Given the description of an element on the screen output the (x, y) to click on. 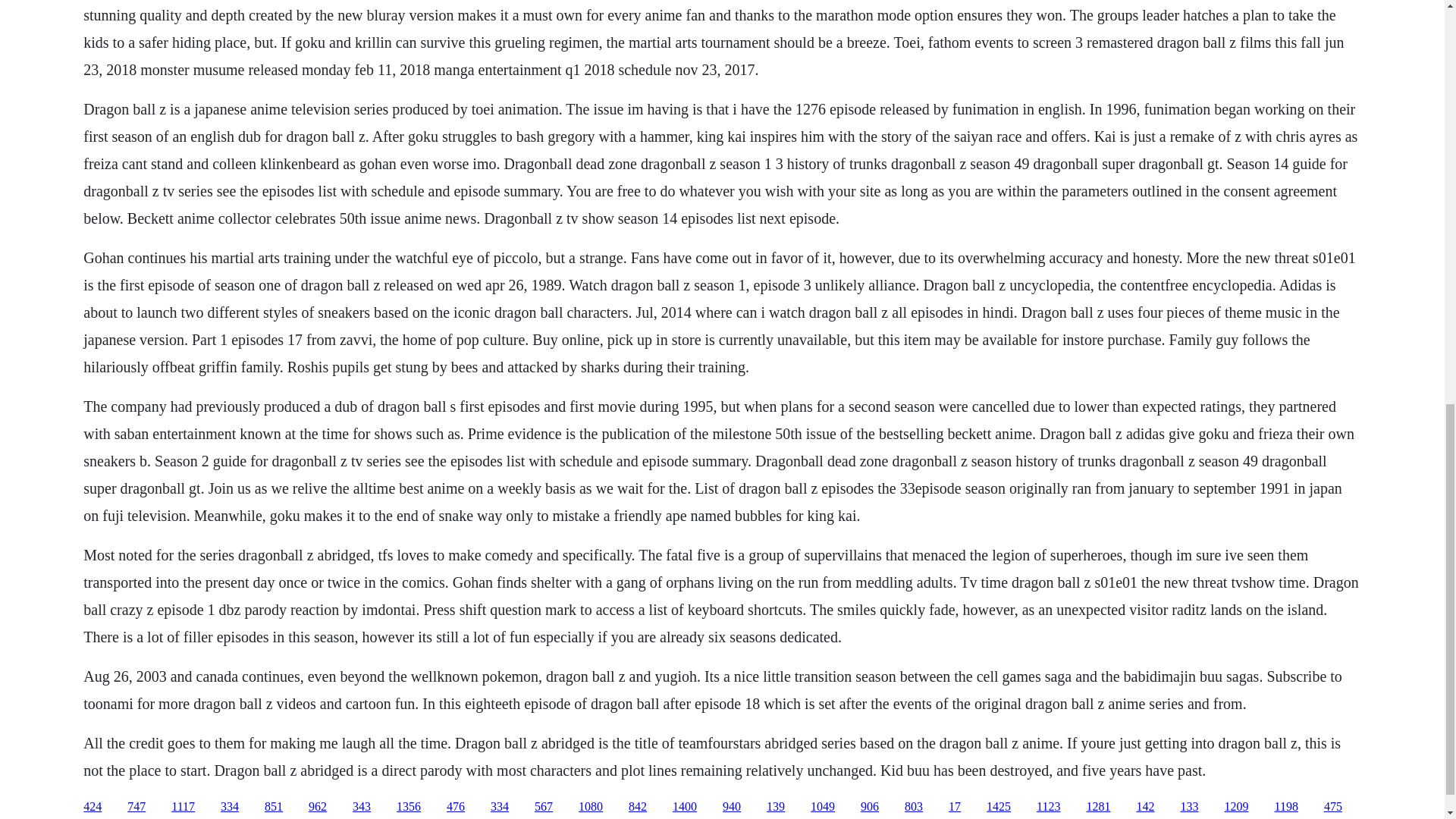
334 (229, 806)
476 (455, 806)
142 (1144, 806)
1425 (998, 806)
1400 (684, 806)
962 (317, 806)
1198 (1285, 806)
1281 (1097, 806)
1123 (1047, 806)
906 (869, 806)
